Given the description of an element on the screen output the (x, y) to click on. 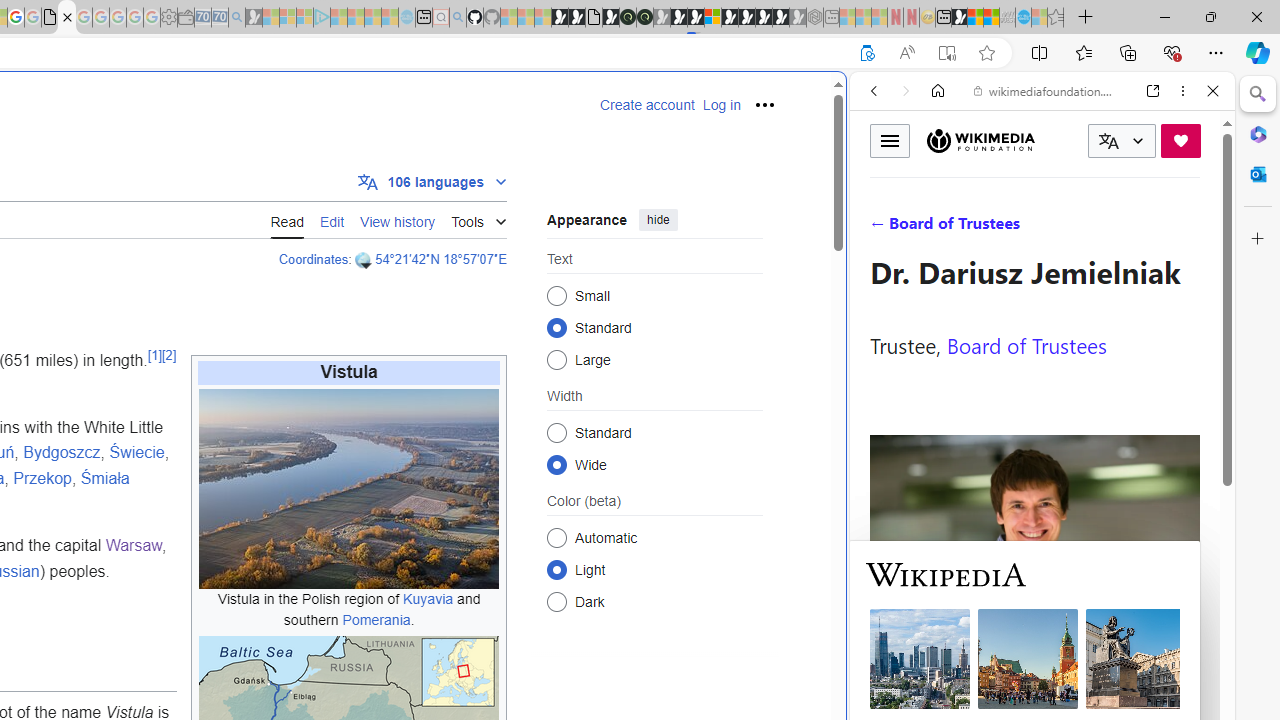
Create account (647, 105)
Show location on an interactive map (365, 260)
Services - Maintenance | Sky Blue Bikes - Sky Blue Bikes (1023, 17)
This site scope (936, 180)
Small (556, 295)
Support Wikipedia? (867, 53)
Create account (647, 105)
View history (397, 219)
Search Filter, Search Tools (1093, 228)
Play Zoo Boom in your browser | Games from Microsoft Start (576, 17)
